Given the description of an element on the screen output the (x, y) to click on. 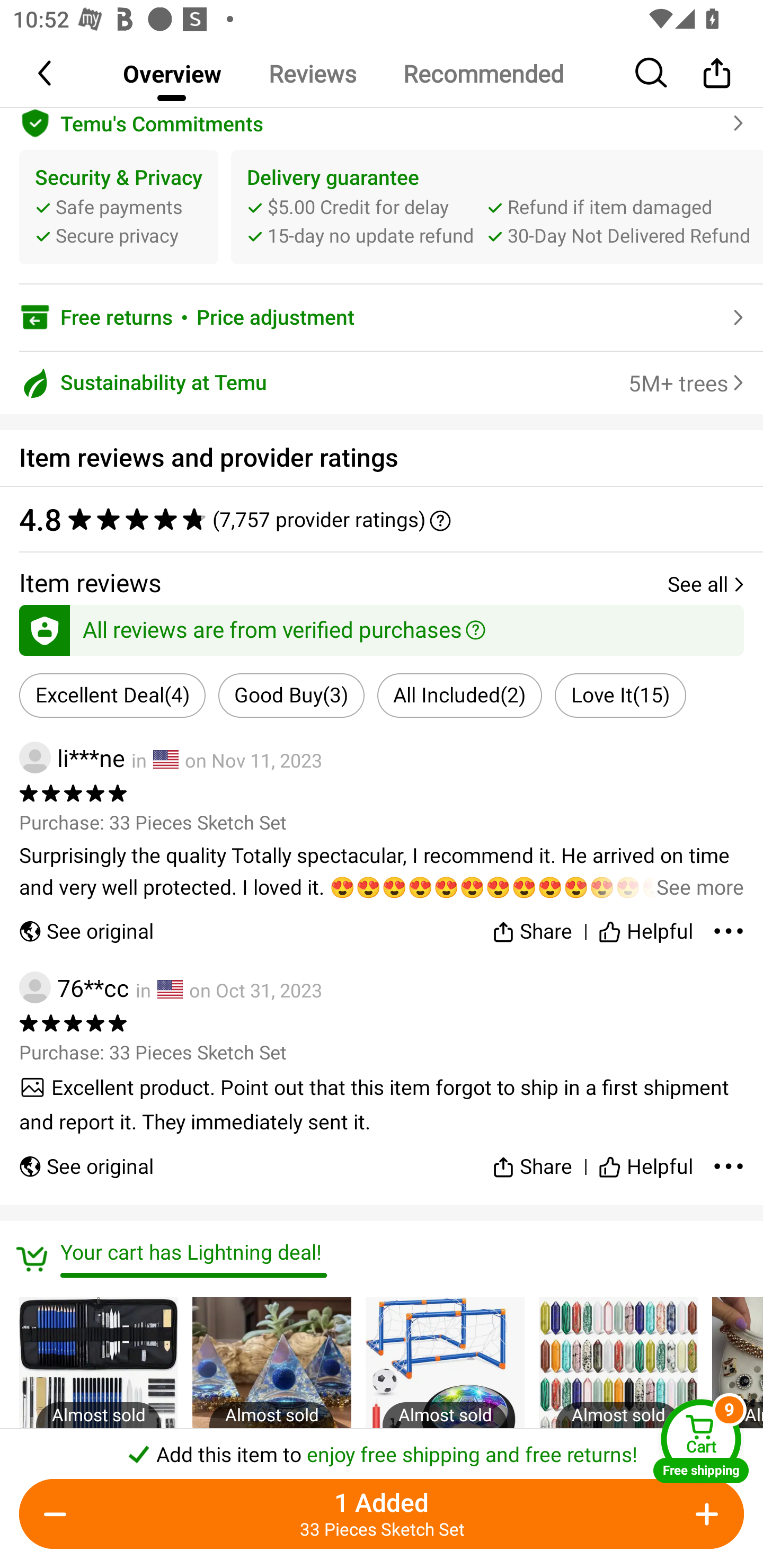
Overview (171, 72)
Reviews (311, 72)
Recommended (482, 72)
Back (46, 72)
Share (716, 72)
Temu's Commitments (381, 120)
Security & Privacy Safe payments Secure privacy (118, 207)
Free returns￼Price adjustment (381, 317)
Sustainability at Temu 5M+ trees (381, 382)
4.8 ‪(7,757 provider ratings) (381, 518)
All reviews are from verified purchases  (381, 626)
Excellent Deal(4) (112, 695)
Good Buy(3) (291, 695)
All Included(2) (458, 695)
Love It(15) (619, 695)
li***ne (72, 757)
See more (381, 871)
  See original (86, 927)
  Share (532, 927)
  Helpful (645, 927)
76**cc (73, 987)
  See original (86, 1158)
  Share (532, 1158)
  Helpful (645, 1158)
Almost sold out 1PC Lapis Lazuli  x1 $5.61 $58.00 (271, 1412)
Almost sold out Multi-Color  x2 $24.98 $42.00 (444, 1412)
Almost sold out 50 Random Pcs  x1 $13.49 $50.33 (618, 1412)
Cart Free shipping Cart (701, 1440)
Decrease Quantity Button (59, 1513)
Add Quantity button (703, 1513)
